Given the description of an element on the screen output the (x, y) to click on. 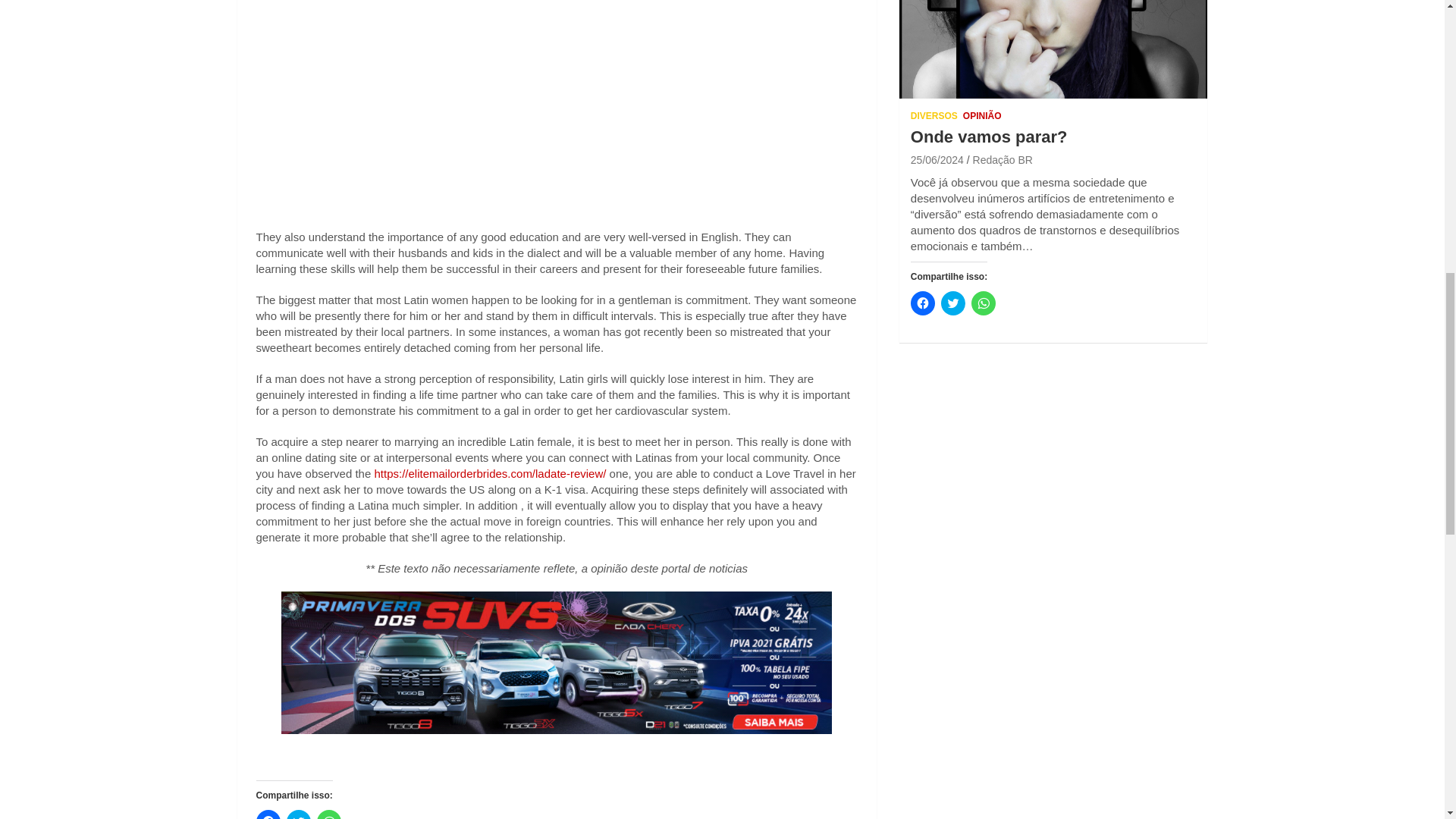
Clique para compartilhar no WhatsApp (983, 303)
Clique para compartilhar no Facebook (922, 303)
Clique para compartilhar no Facebook (268, 814)
DIVERSOS (934, 115)
Clique para compartilhar no Twitter (952, 303)
Clique para compartilhar no WhatsApp (328, 814)
Clique para compartilhar no Twitter (298, 814)
Onde vamos parar? (937, 159)
